Given the description of an element on the screen output the (x, y) to click on. 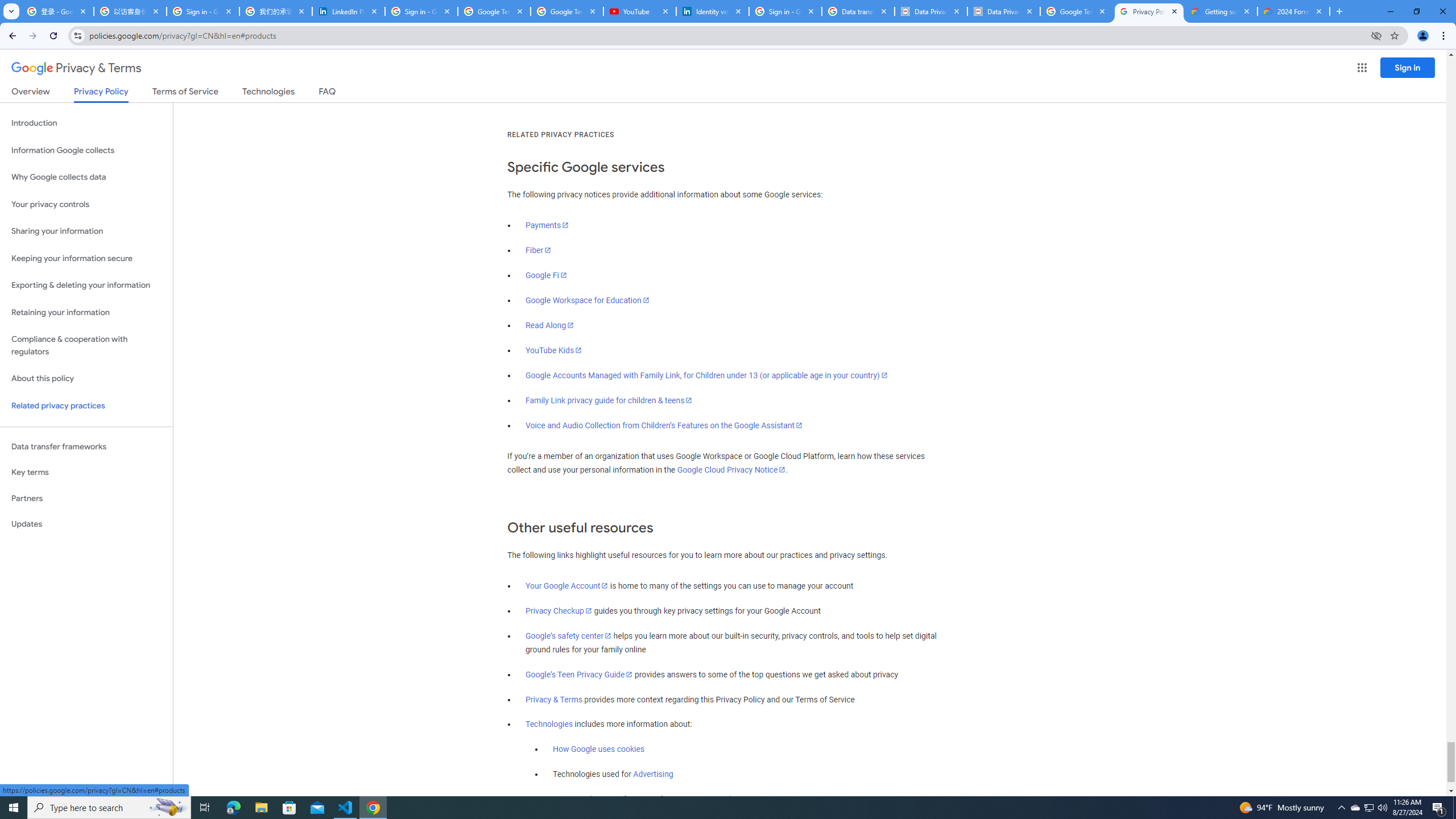
Advertising (652, 774)
